Given the description of an element on the screen output the (x, y) to click on. 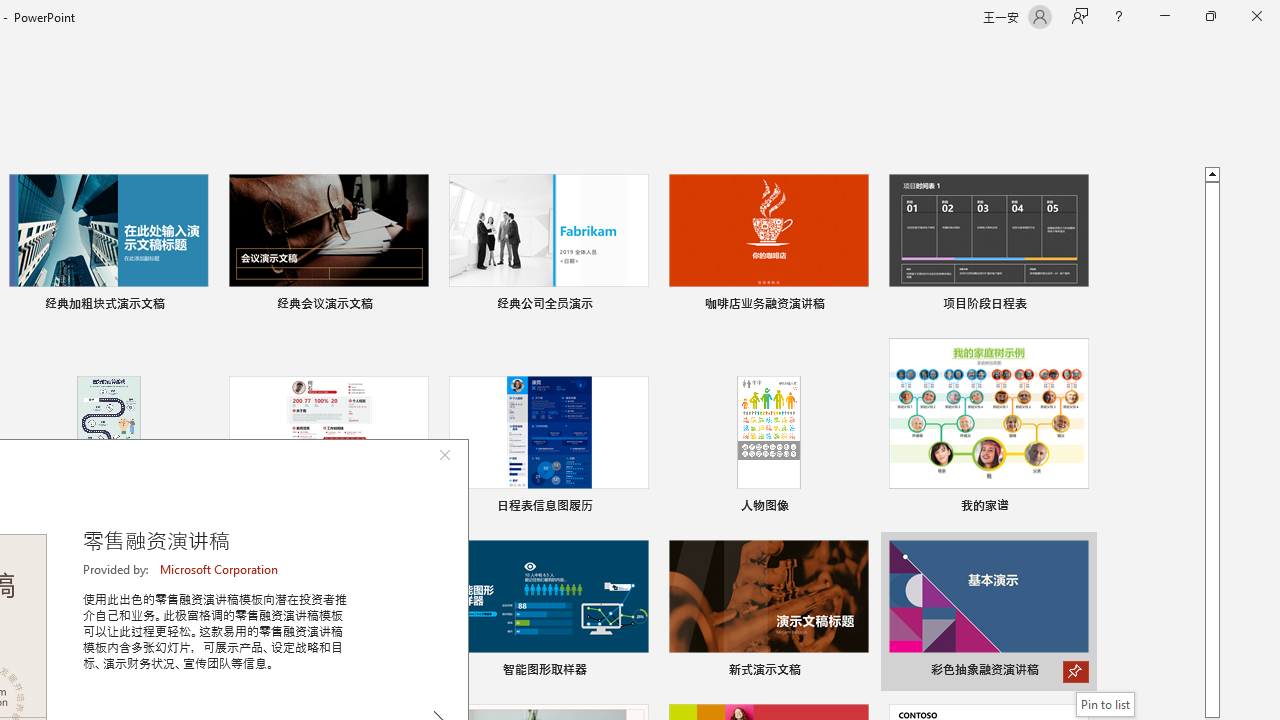
Microsoft Corporation (220, 569)
